Given the description of an element on the screen output the (x, y) to click on. 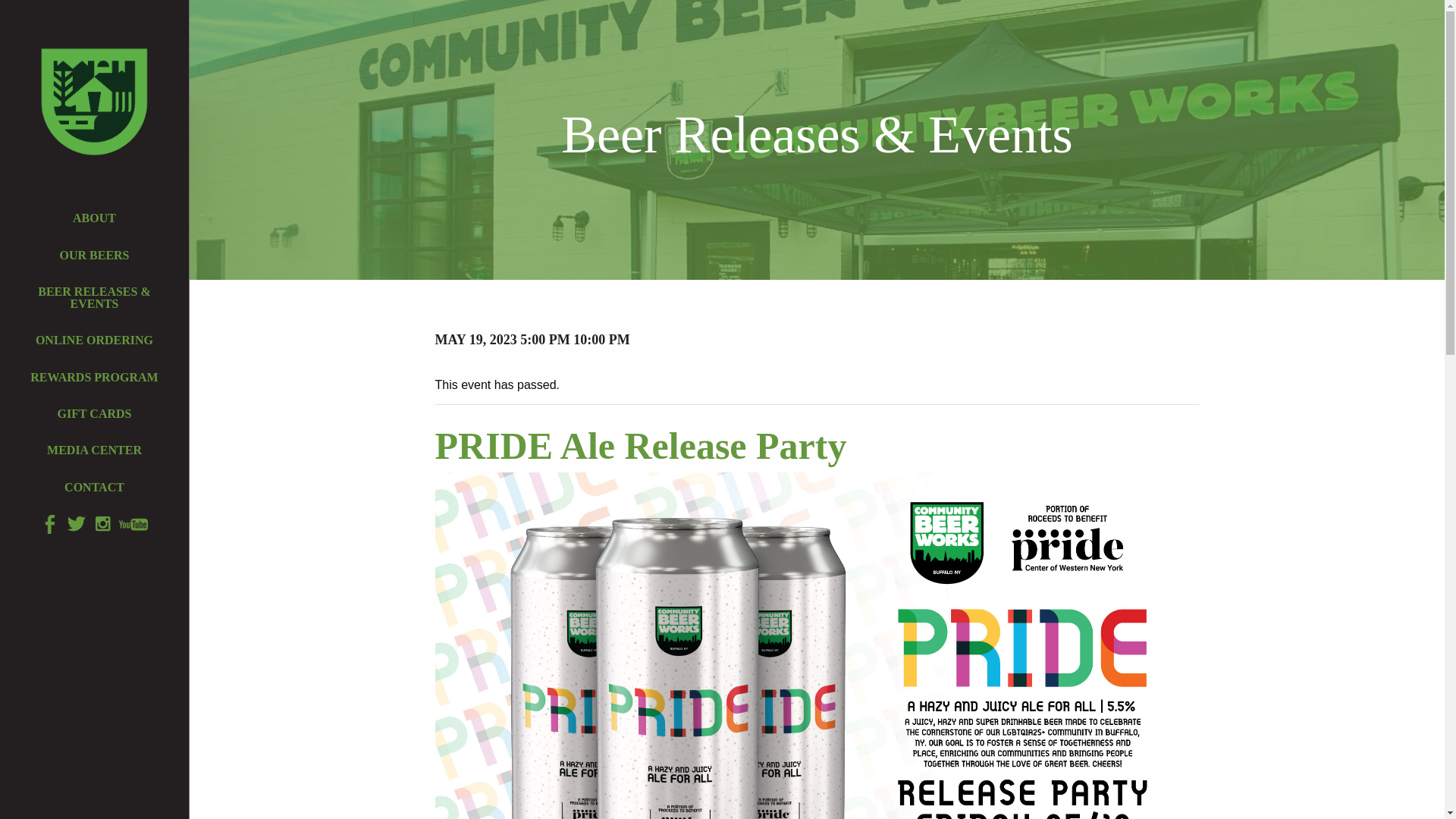
ONLINE ORDERING (94, 339)
REWARDS PROGRAM (94, 376)
CONTACT (94, 487)
ABOUT (94, 217)
MEDIA CENTER (94, 450)
GIFT CARDS (94, 413)
OUR BEERS (94, 254)
